Given the description of an element on the screen output the (x, y) to click on. 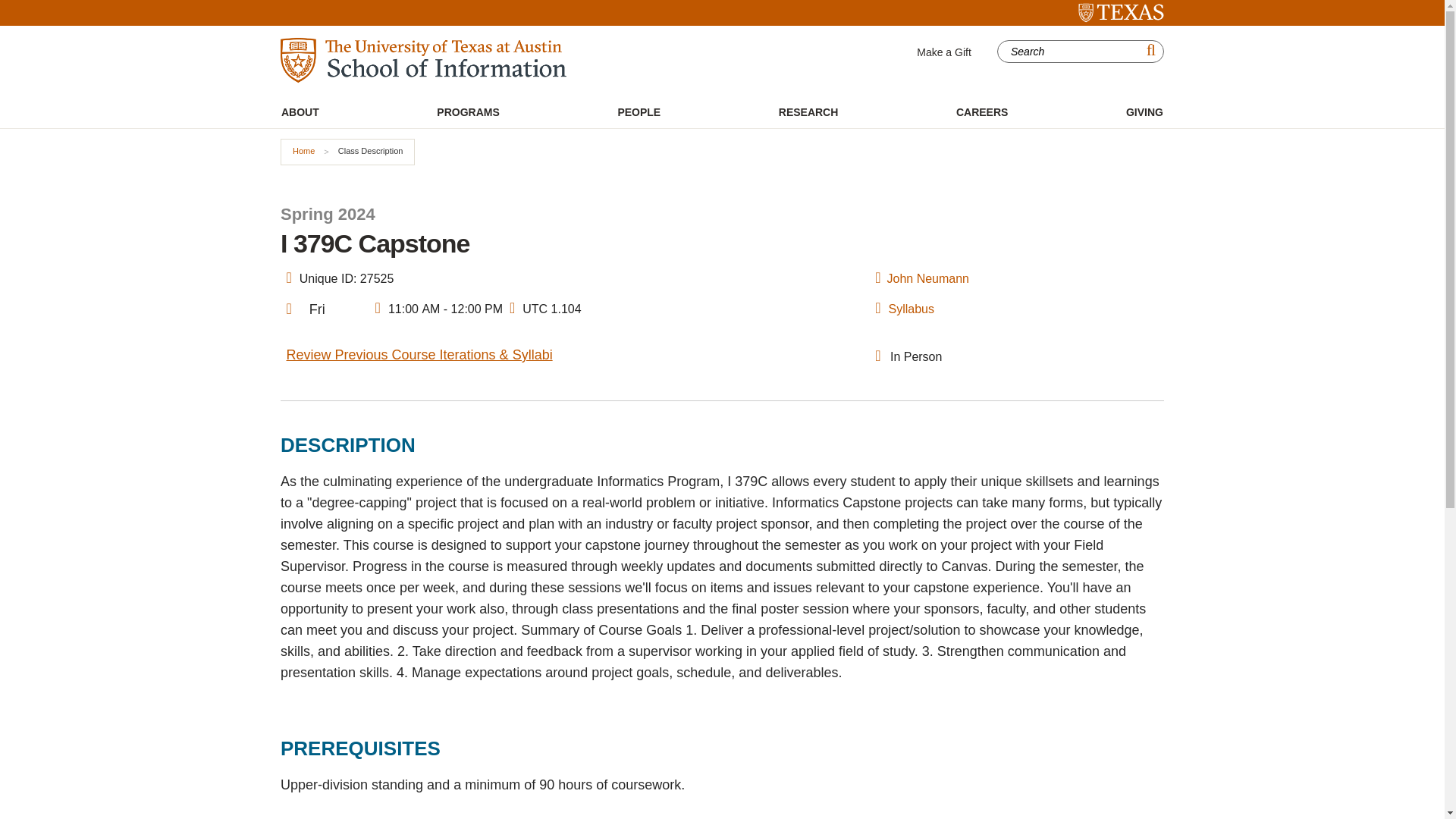
ABOUT (300, 112)
RESEARCH (808, 112)
Make a Gift (944, 51)
UT iSchool (423, 60)
University of Texas at Austin Home (1120, 12)
PROGRAMS (467, 112)
PEOPLE (638, 112)
Search this site (1071, 51)
